Given the description of an element on the screen output the (x, y) to click on. 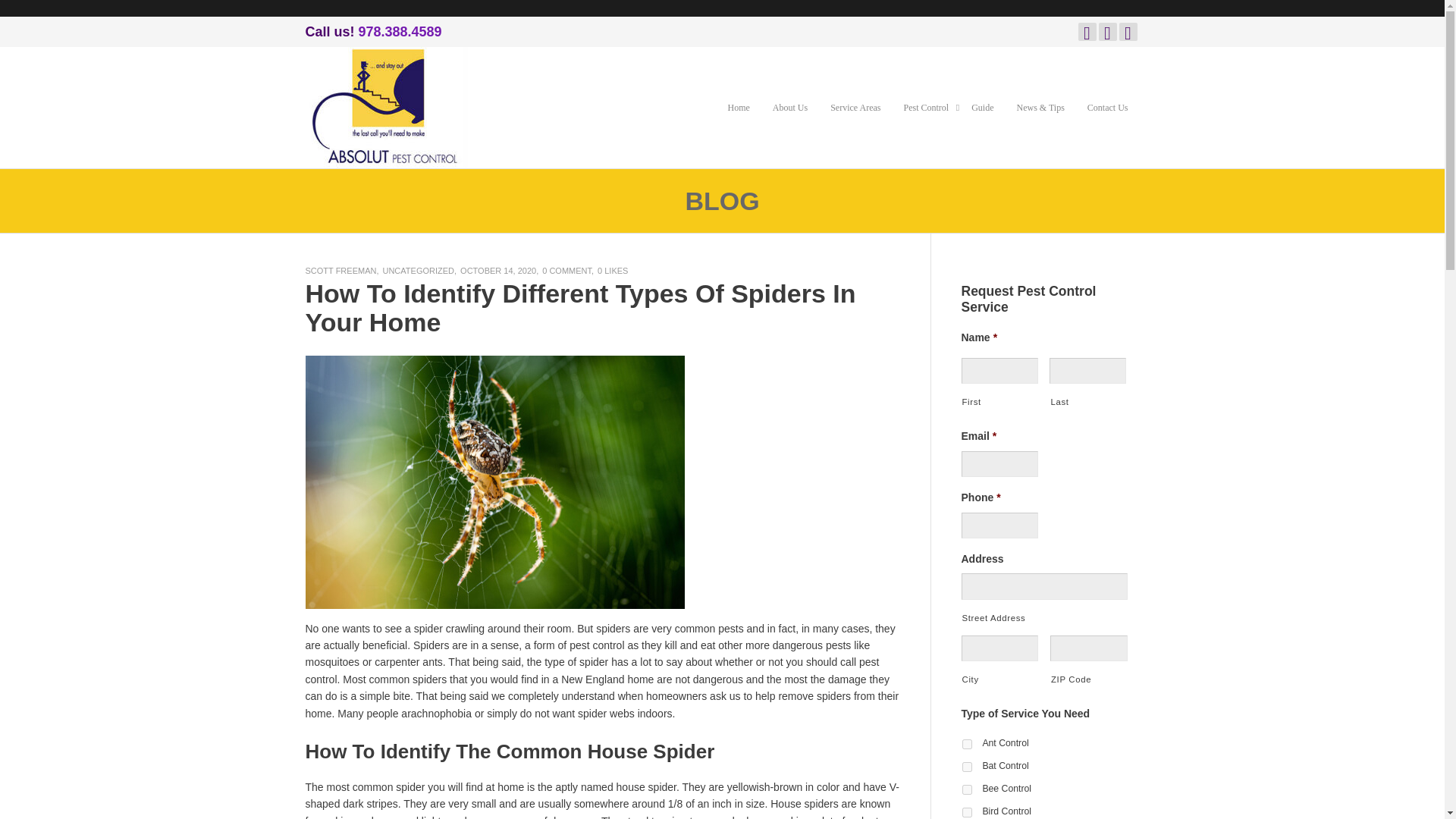
Service Areas (854, 107)
Bat Control (965, 767)
978.388.4589 (400, 31)
Bee Control (965, 789)
About Us (789, 107)
Pest Control (925, 107)
Bird Control (965, 812)
Ant Control (965, 744)
Absolut Pest Control (385, 106)
Contact Us (1107, 107)
Like this (611, 270)
